Given the description of an element on the screen output the (x, y) to click on. 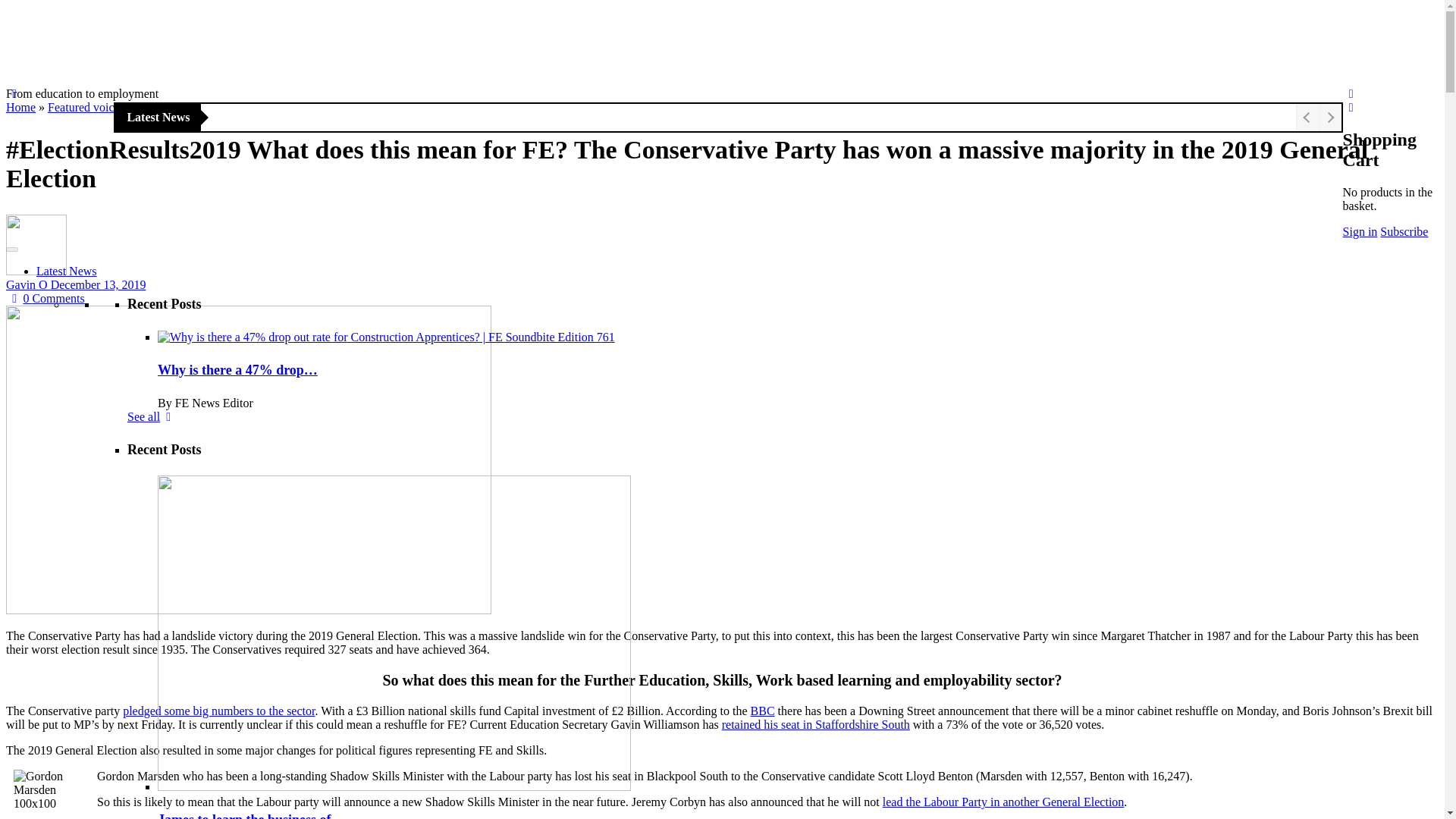
Latest News (66, 270)
Sign in (1359, 231)
Subscribe (1404, 231)
See all (152, 416)
